Given the description of an element on the screen output the (x, y) to click on. 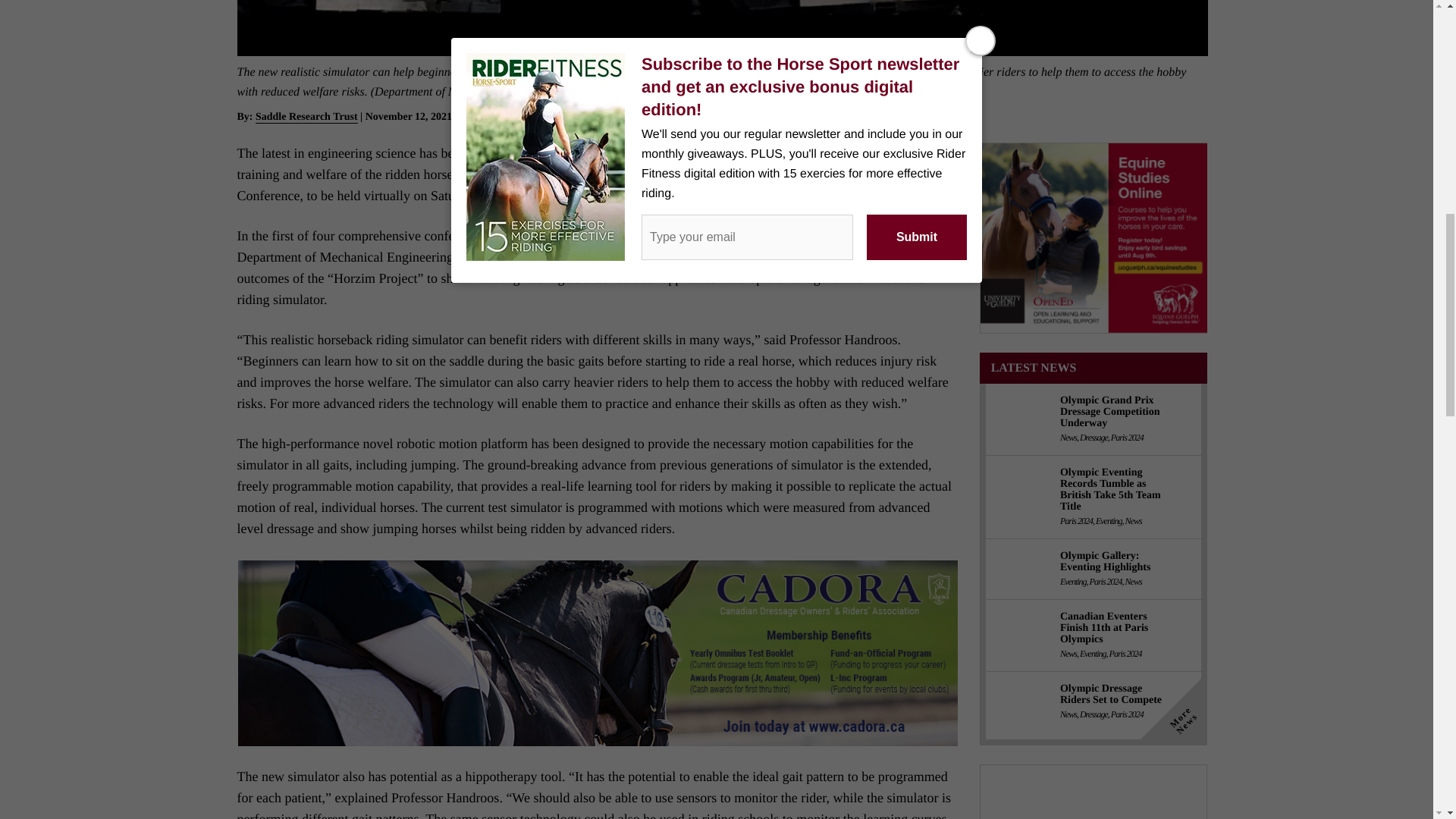
Saddle Research Trust (756, 174)
Saddle Research Trust (307, 117)
